Given the description of an element on the screen output the (x, y) to click on. 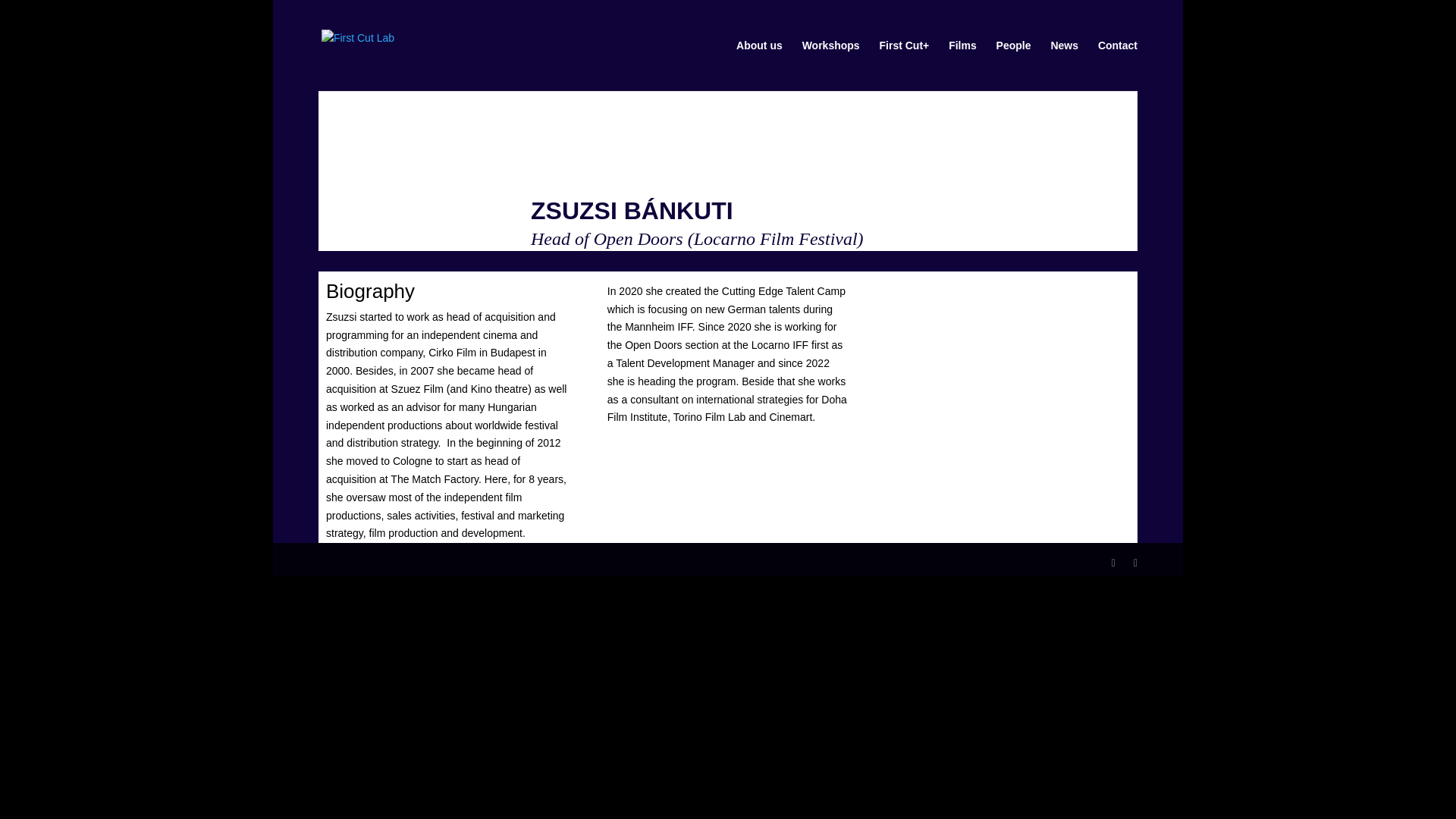
portrait (420, 73)
About us (759, 65)
Workshops (831, 65)
